Given the description of an element on the screen output the (x, y) to click on. 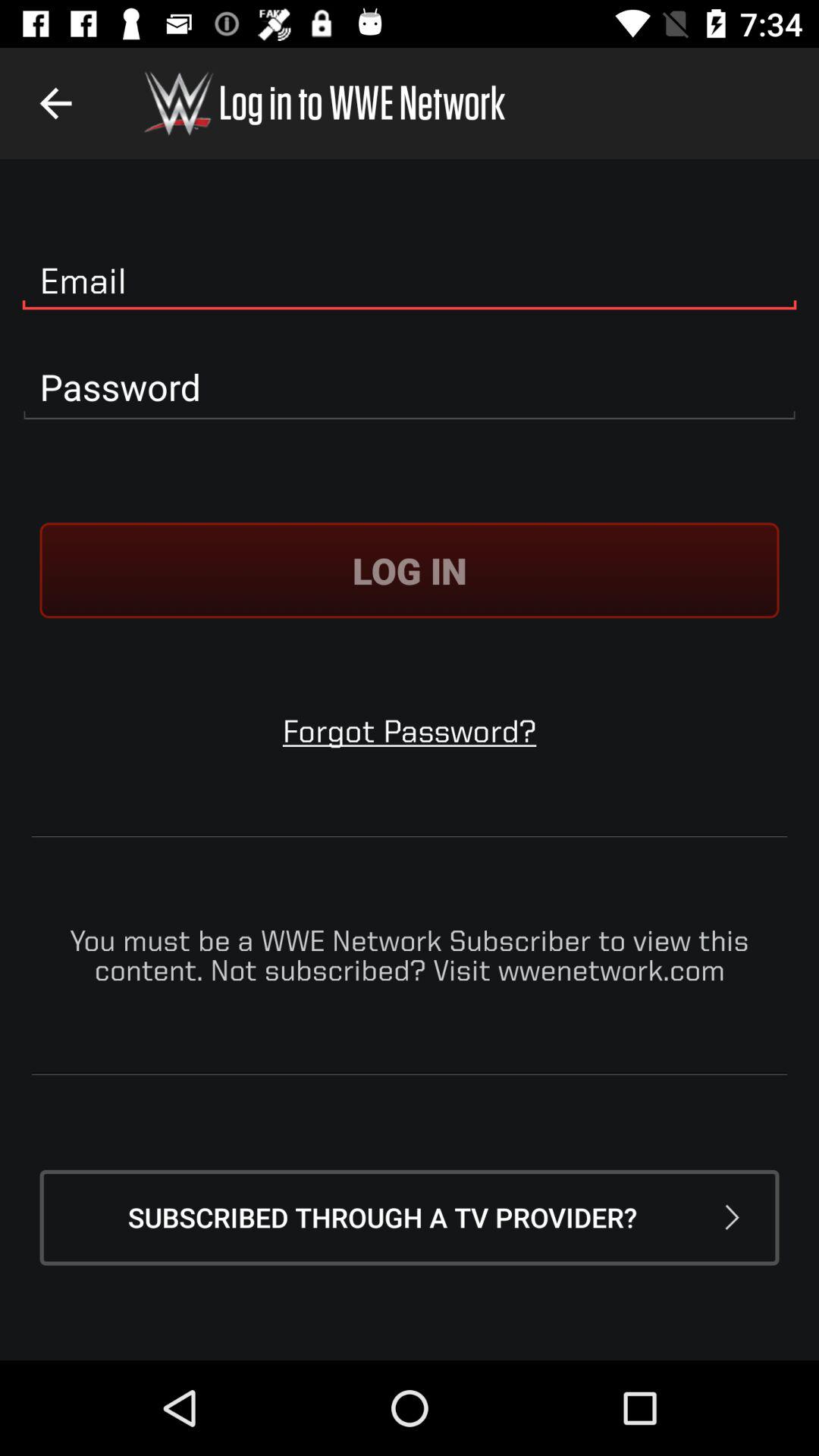
enter email (409, 281)
